Given the description of an element on the screen output the (x, y) to click on. 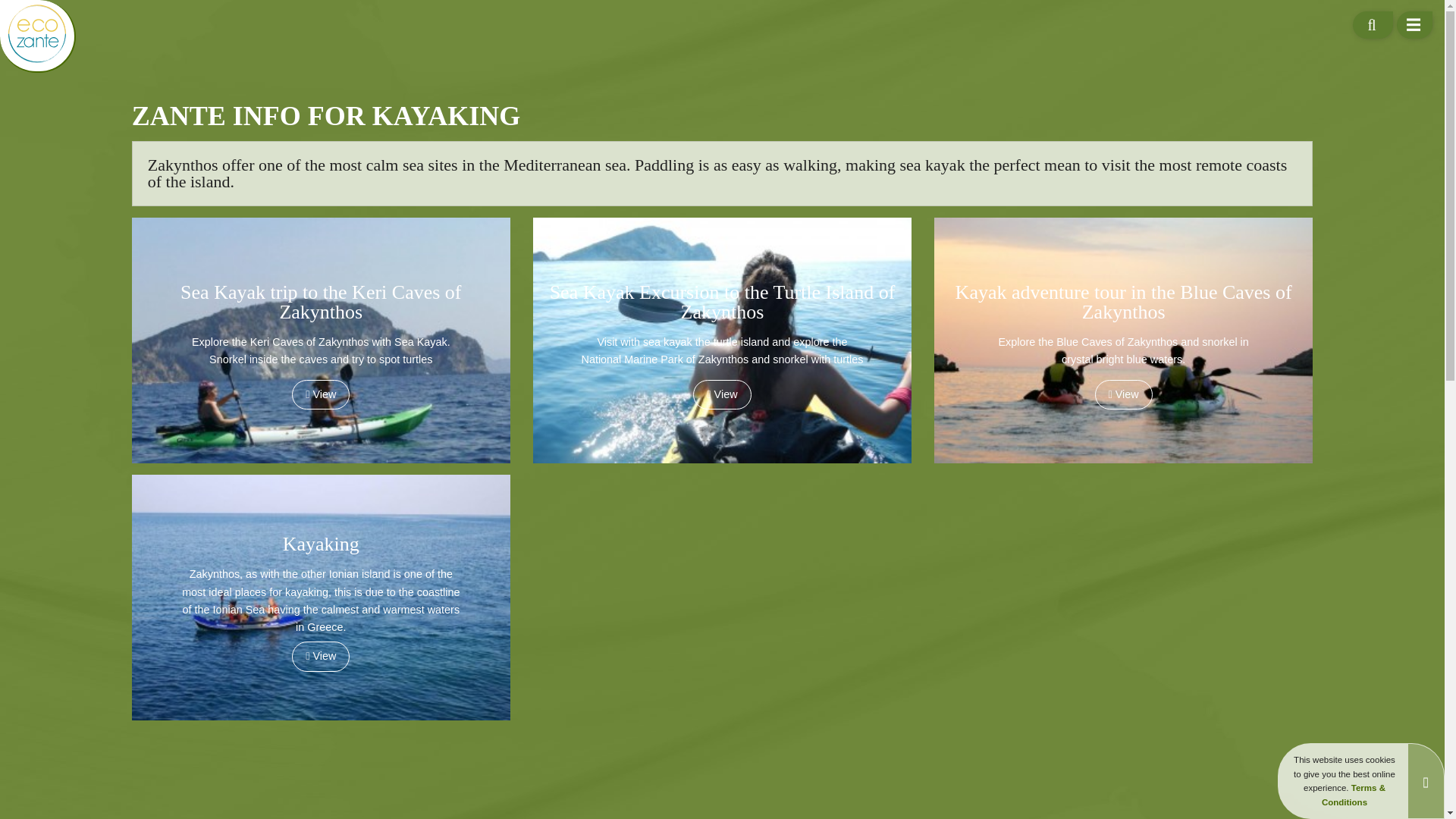
View (722, 394)
View (320, 655)
View (1123, 394)
View (320, 394)
